Given the description of an element on the screen output the (x, y) to click on. 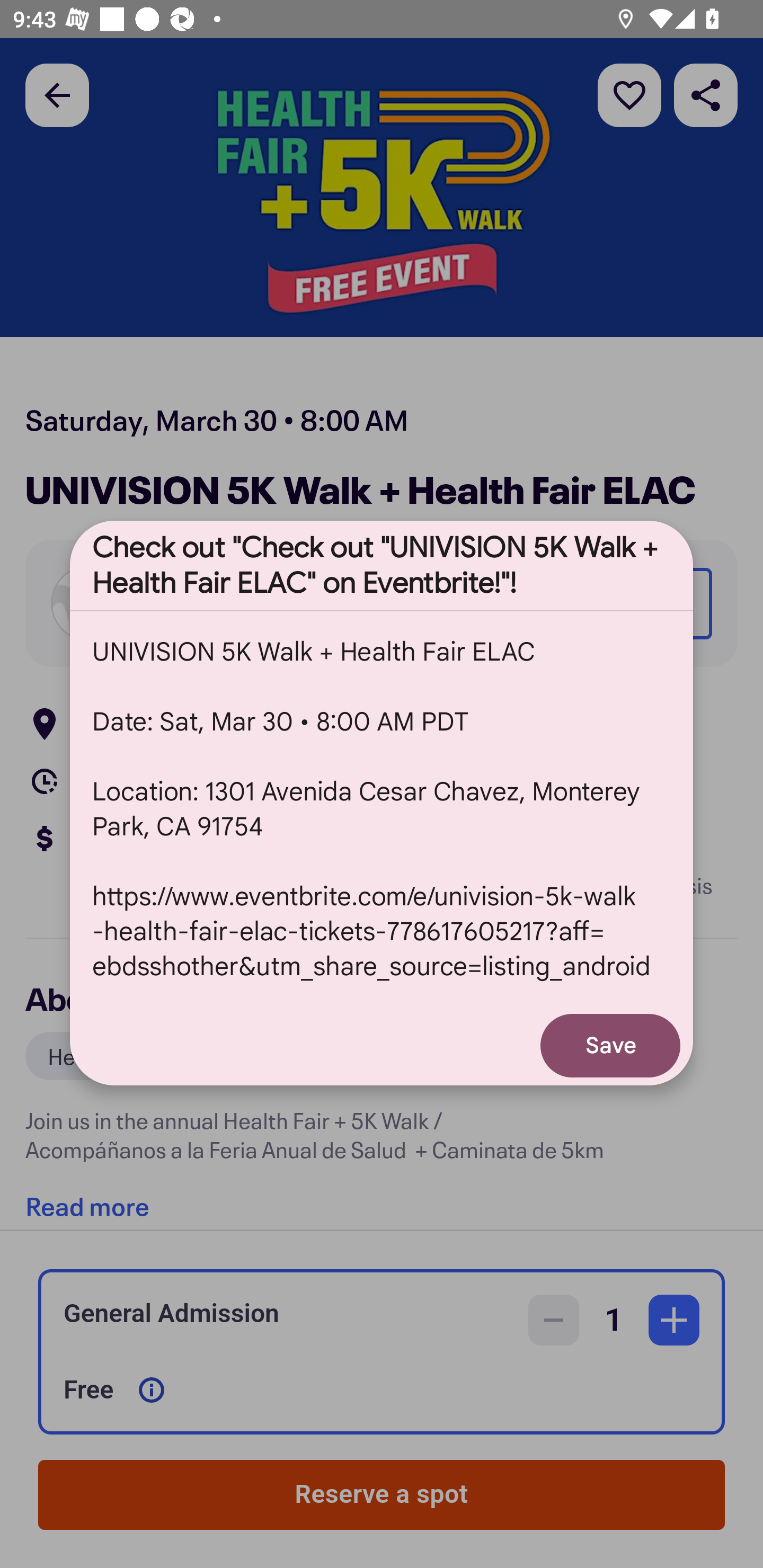
Save (610, 1045)
